Given the description of an element on the screen output the (x, y) to click on. 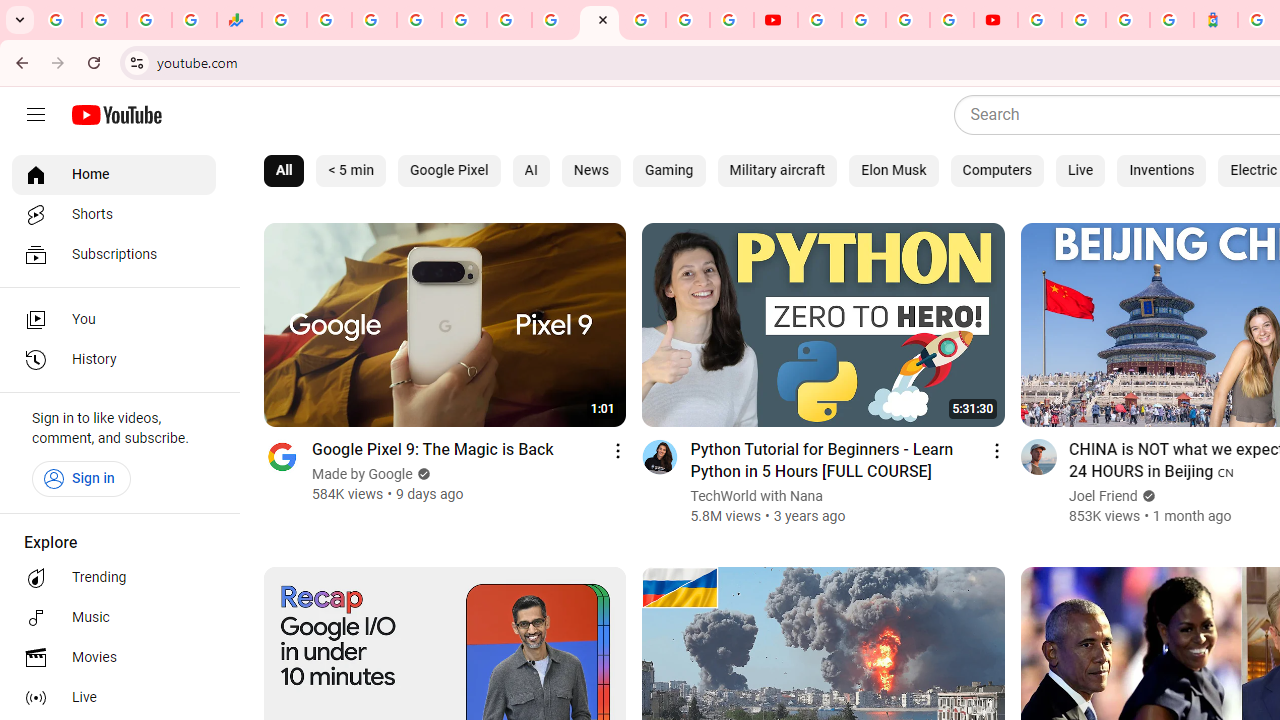
Movies (113, 657)
TechWorld with Nana (757, 496)
Google Pixel (449, 170)
Privacy Checkup (731, 20)
Subscriptions (113, 254)
Made by Google (363, 474)
Home (113, 174)
Verified (1145, 495)
< 5 min (351, 170)
